Given the description of an element on the screen output the (x, y) to click on. 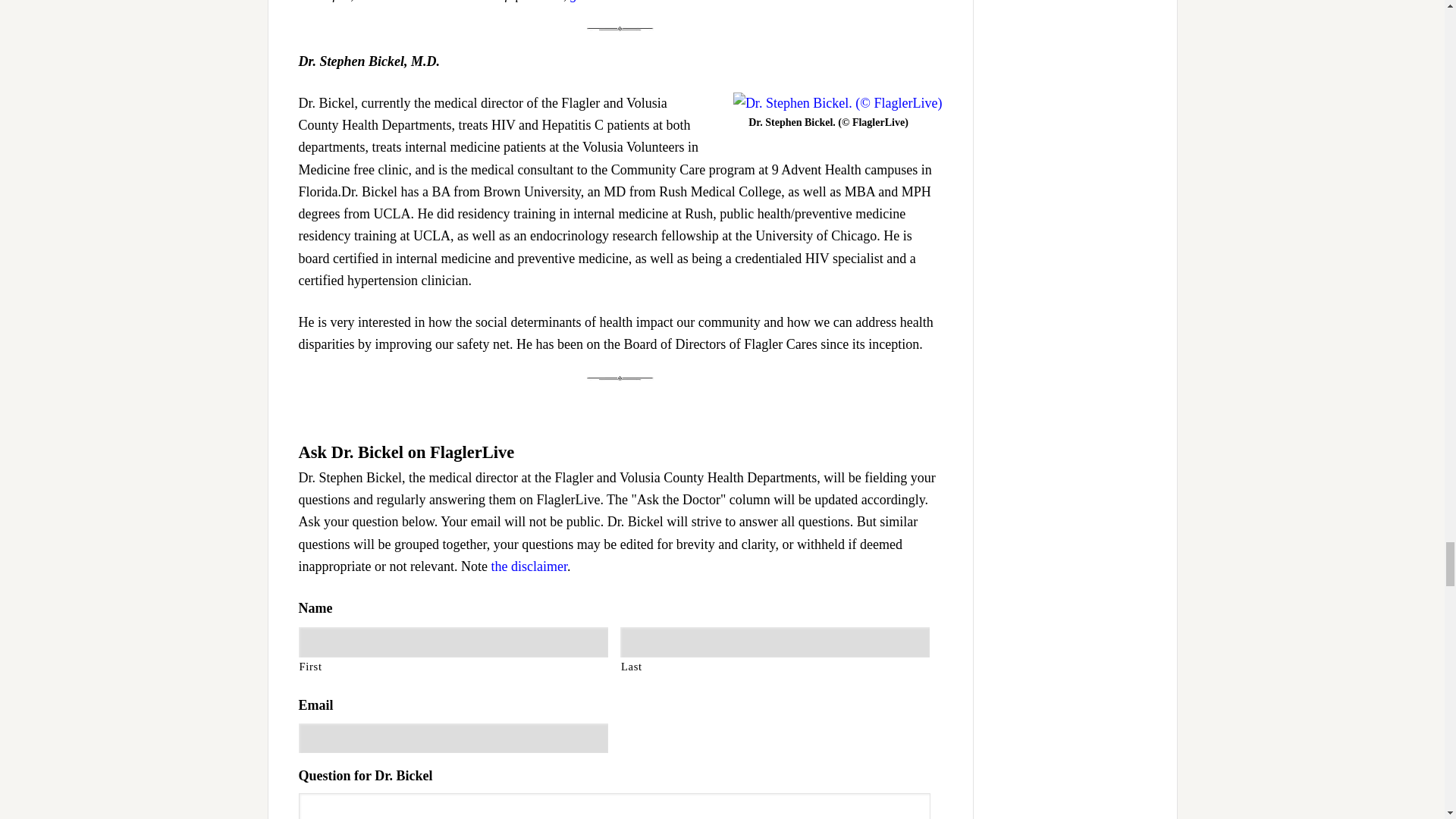
divider (619, 377)
divider (619, 28)
